Given the description of an element on the screen output the (x, y) to click on. 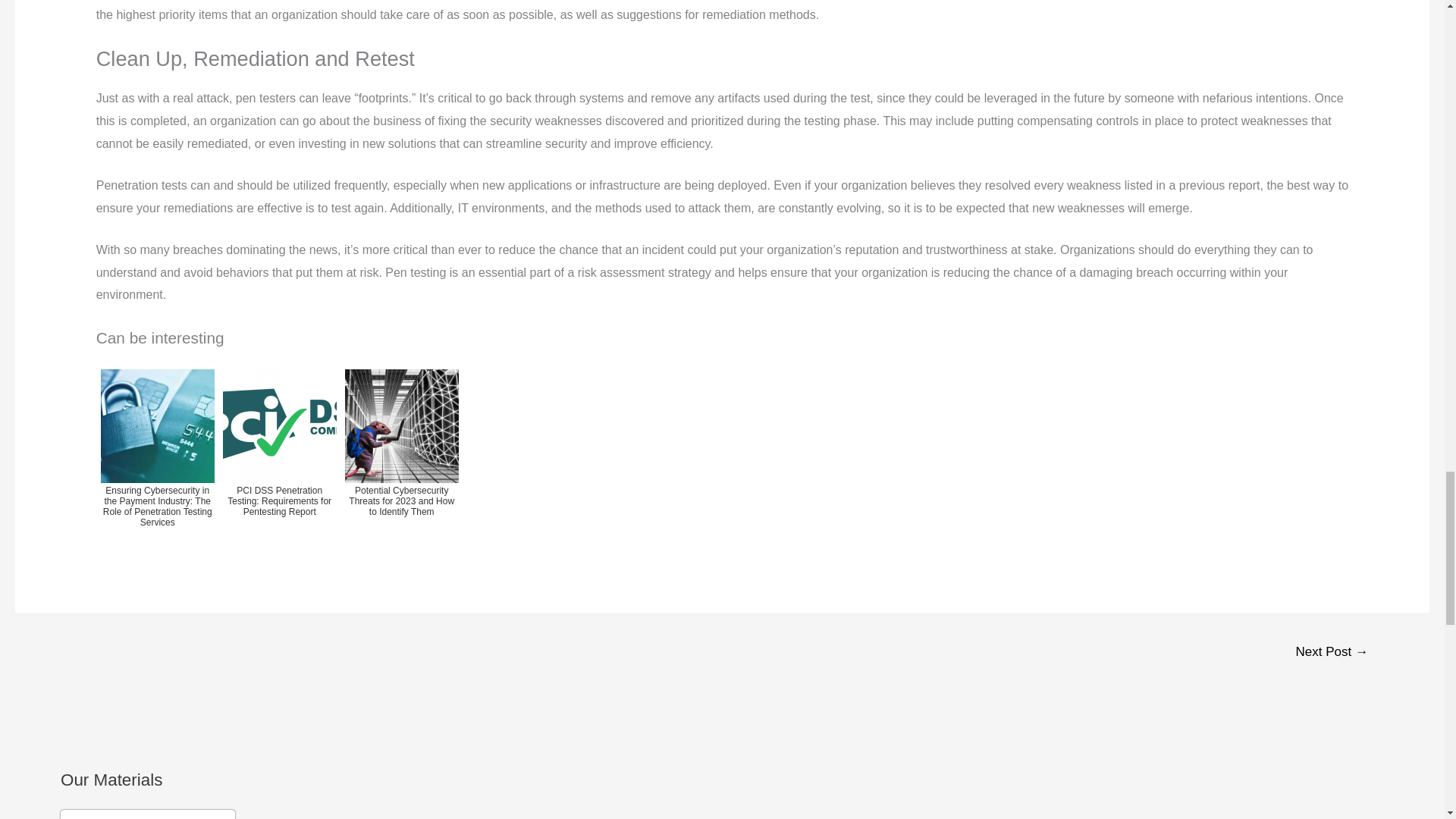
Questinnaire (147, 814)
Please, fill and submit through the contact form. (147, 814)
